Given the description of an element on the screen output the (x, y) to click on. 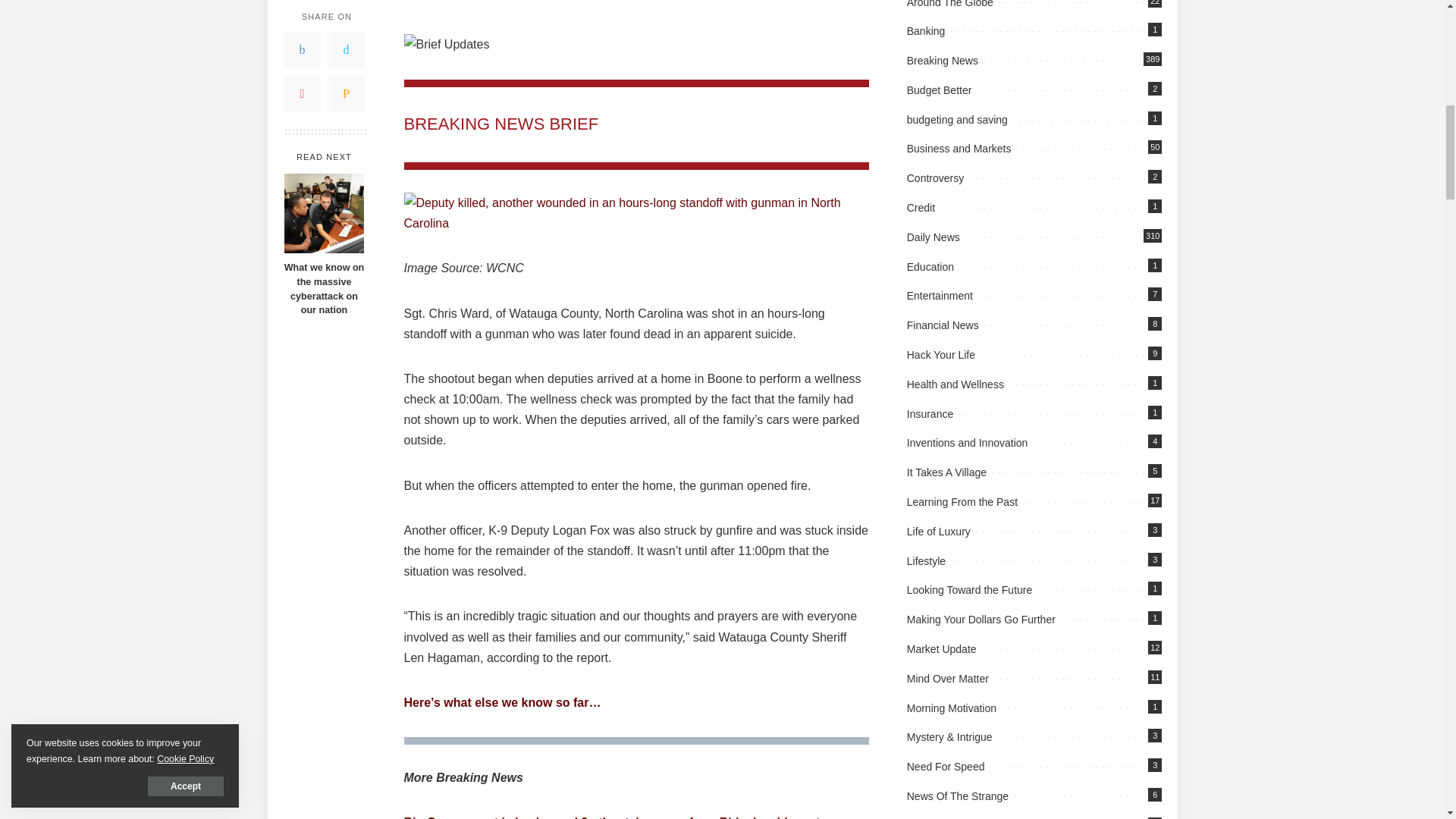
What we know on the massive cyberattack on our nation (323, 289)
